Given the description of an element on the screen output the (x, y) to click on. 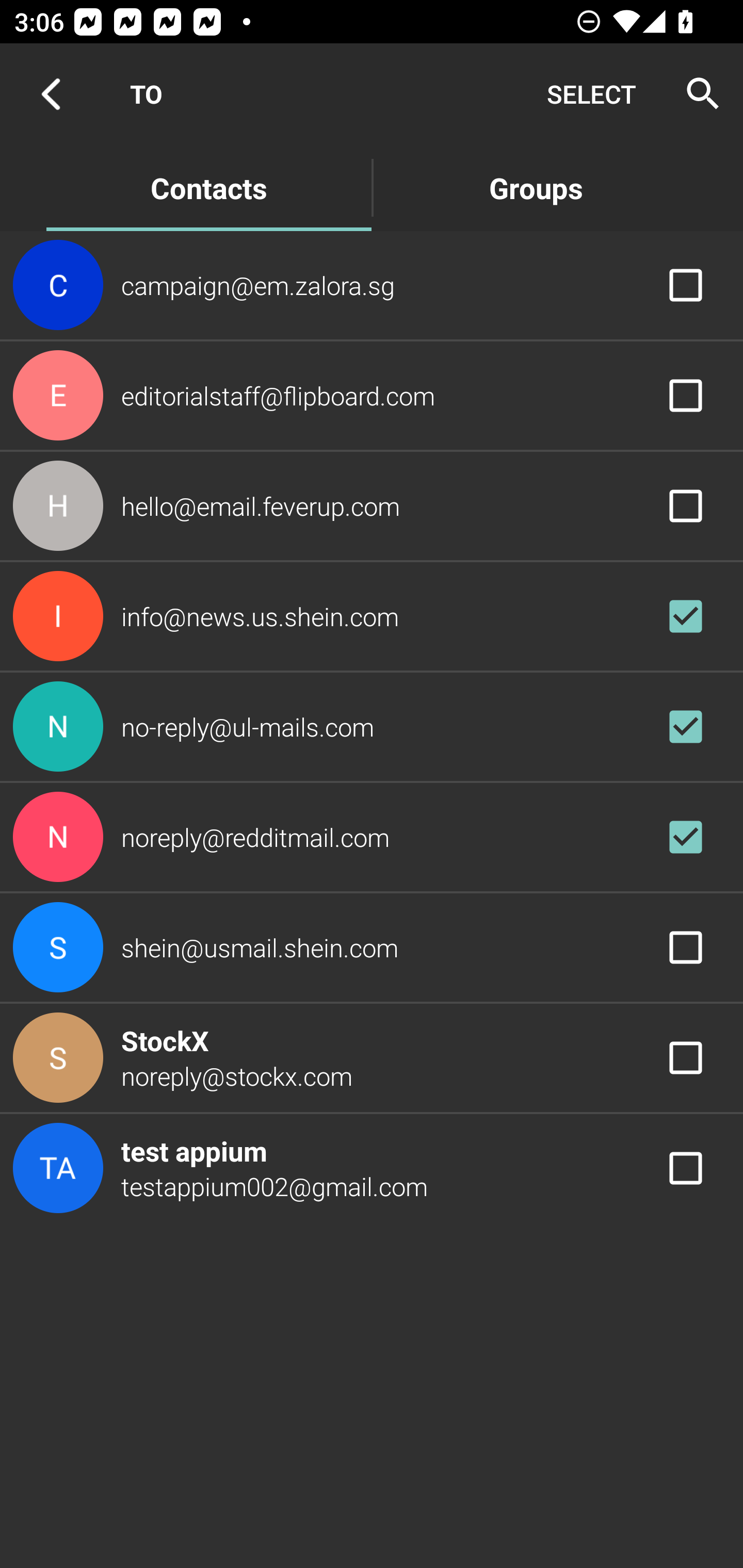
Navigate up (50, 93)
SELECT (590, 93)
Search (696, 93)
Contacts (208, 187)
Groups (535, 187)
campaign@em.zalora.sg (371, 284)
editorialstaff@flipboard.com (371, 395)
hello@email.feverup.com (371, 505)
info@news.us.shein.com (371, 616)
no-reply@ul-mails.com (371, 726)
noreply@redditmail.com (371, 836)
shein@usmail.shein.com (371, 947)
StockX noreply@stockx.com (371, 1057)
test appium testappium002@gmail.com (371, 1168)
